Given the description of an element on the screen output the (x, y) to click on. 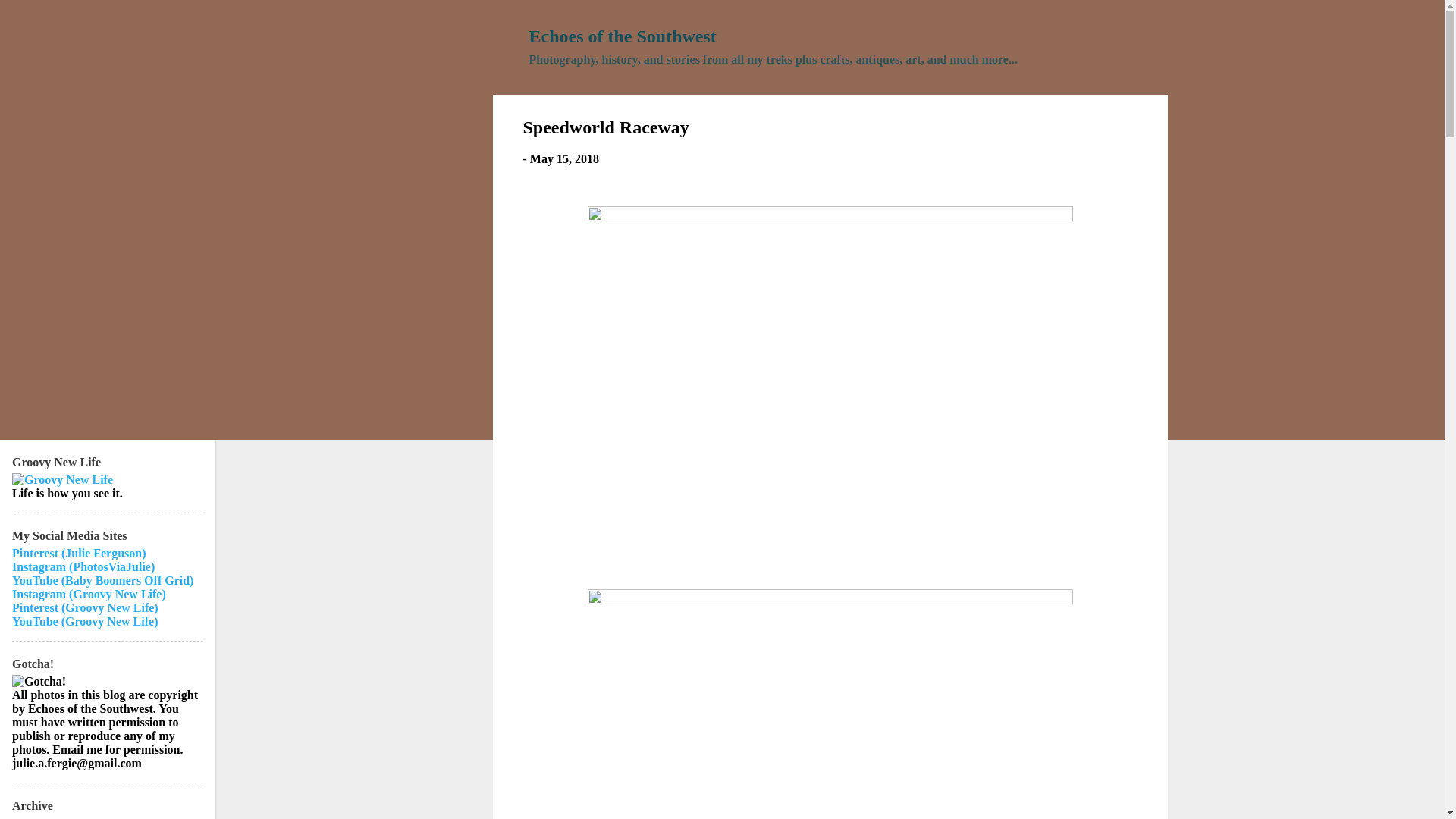
May 15, 2018 (563, 158)
Search (31, 18)
Echoes of the Southwest (622, 35)
permanent link (563, 158)
